Given the description of an element on the screen output the (x, y) to click on. 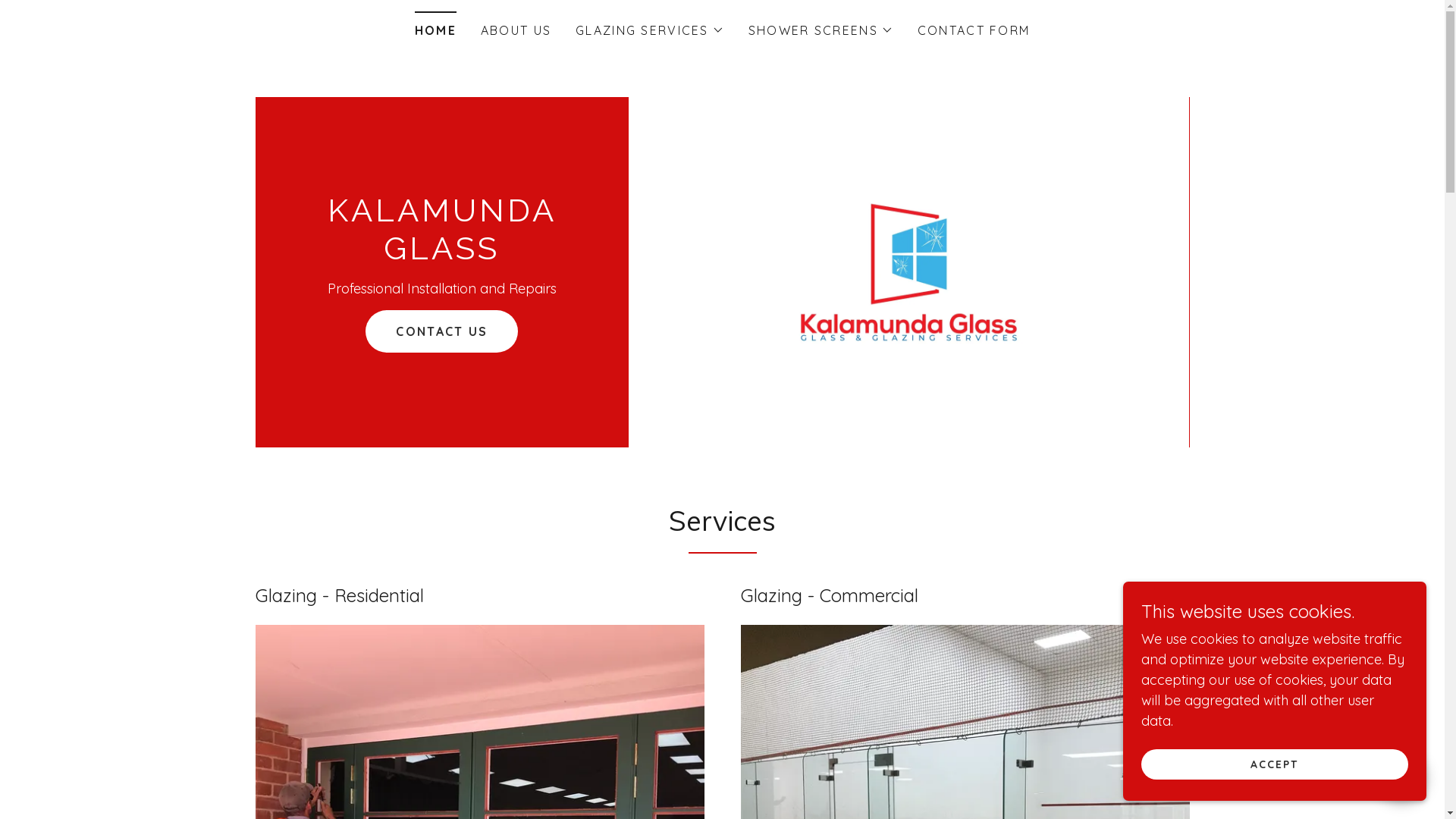
CONTACT FORM Element type: text (973, 29)
ABOUT US Element type: text (515, 29)
ACCEPT Element type: text (1274, 764)
SHOWER SCREENS Element type: text (820, 30)
KALAMUNDA GLASS Element type: text (441, 254)
HOME Element type: text (435, 25)
GLAZING SERVICES Element type: text (649, 30)
CONTACT US Element type: text (441, 331)
